Given the description of an element on the screen output the (x, y) to click on. 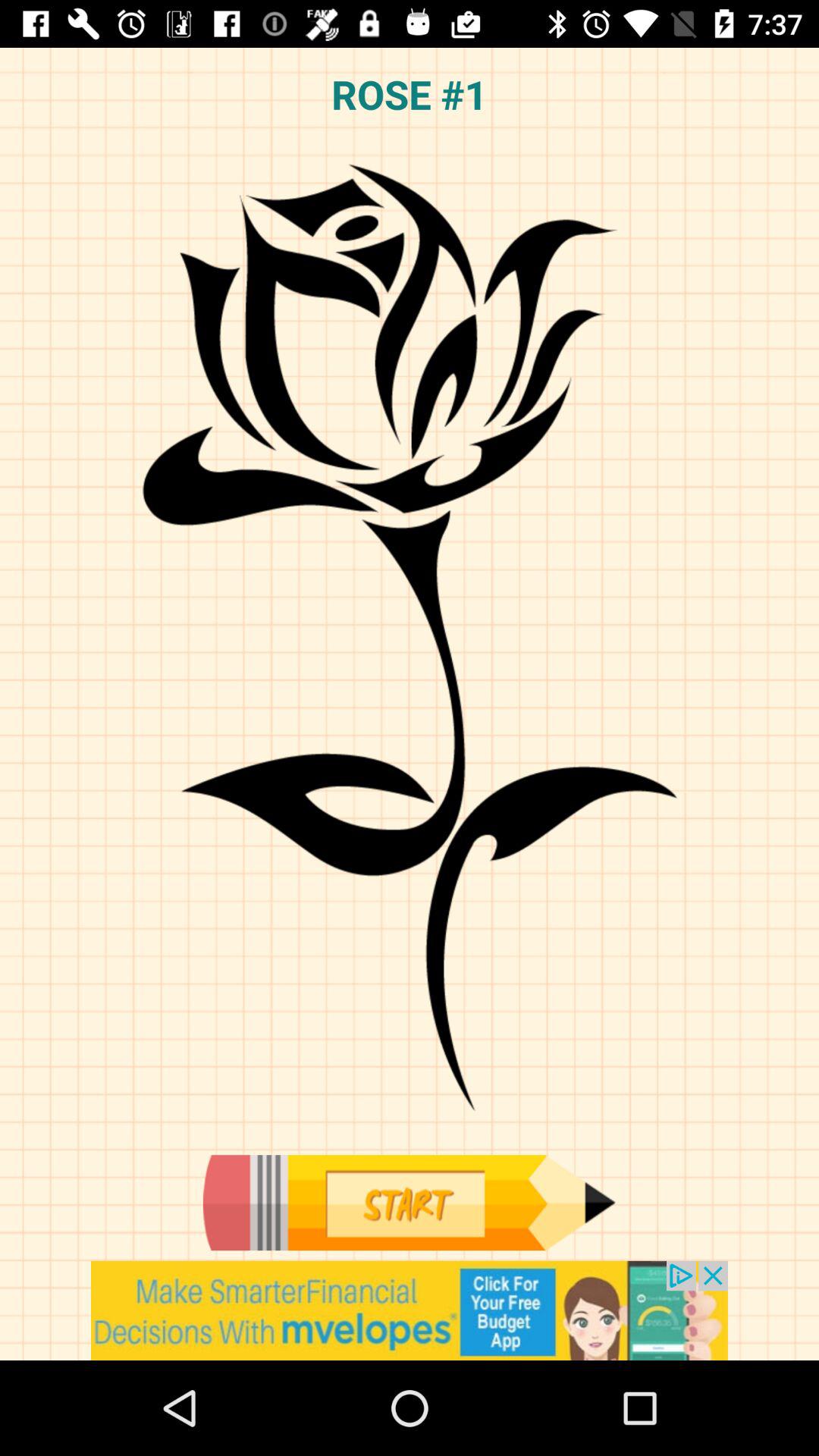
give advertisement information (409, 1310)
